Given the description of an element on the screen output the (x, y) to click on. 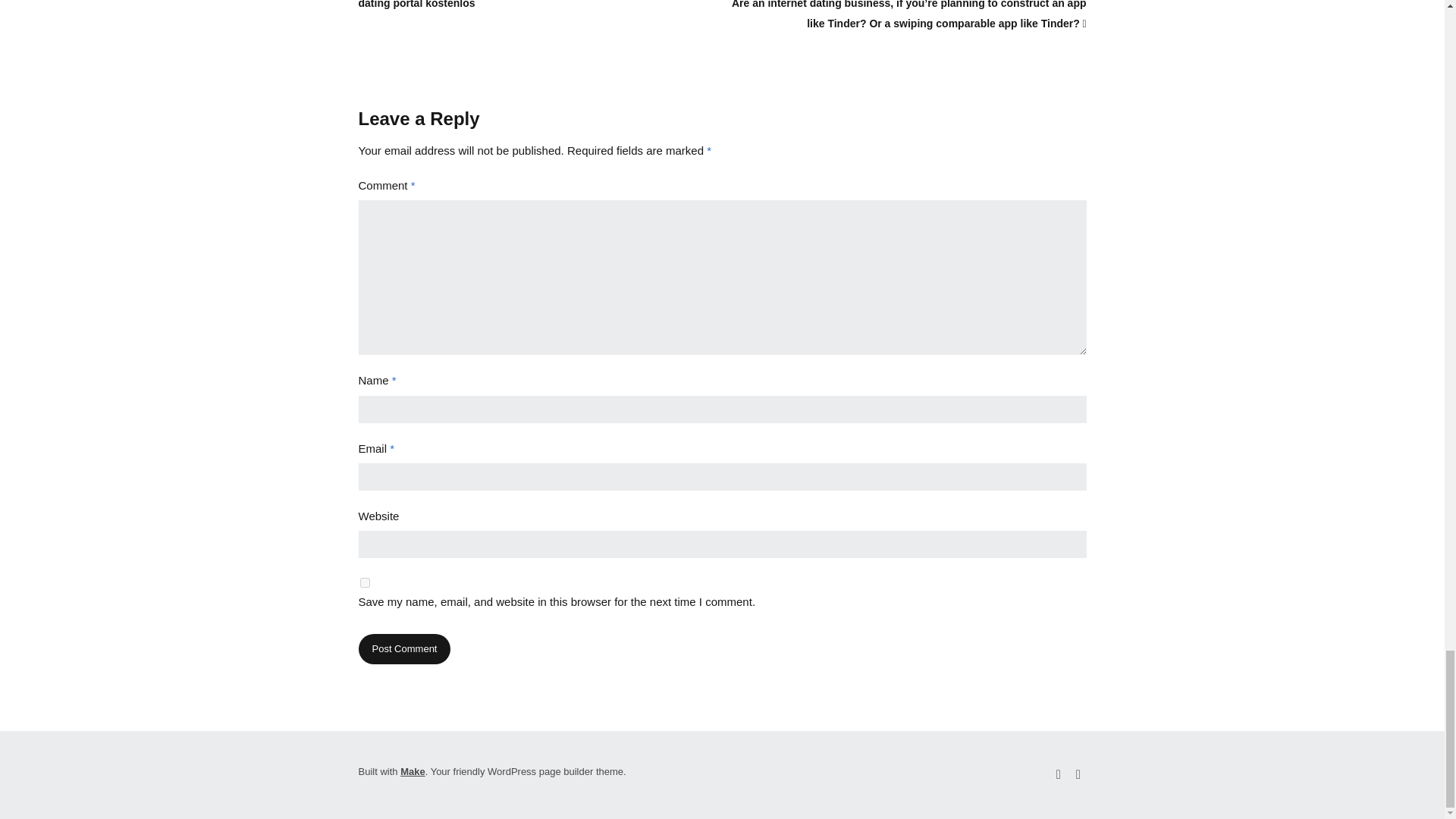
Make (412, 771)
yes (364, 583)
Post Comment (403, 649)
Post Comment (403, 649)
